Given the description of an element on the screen output the (x, y) to click on. 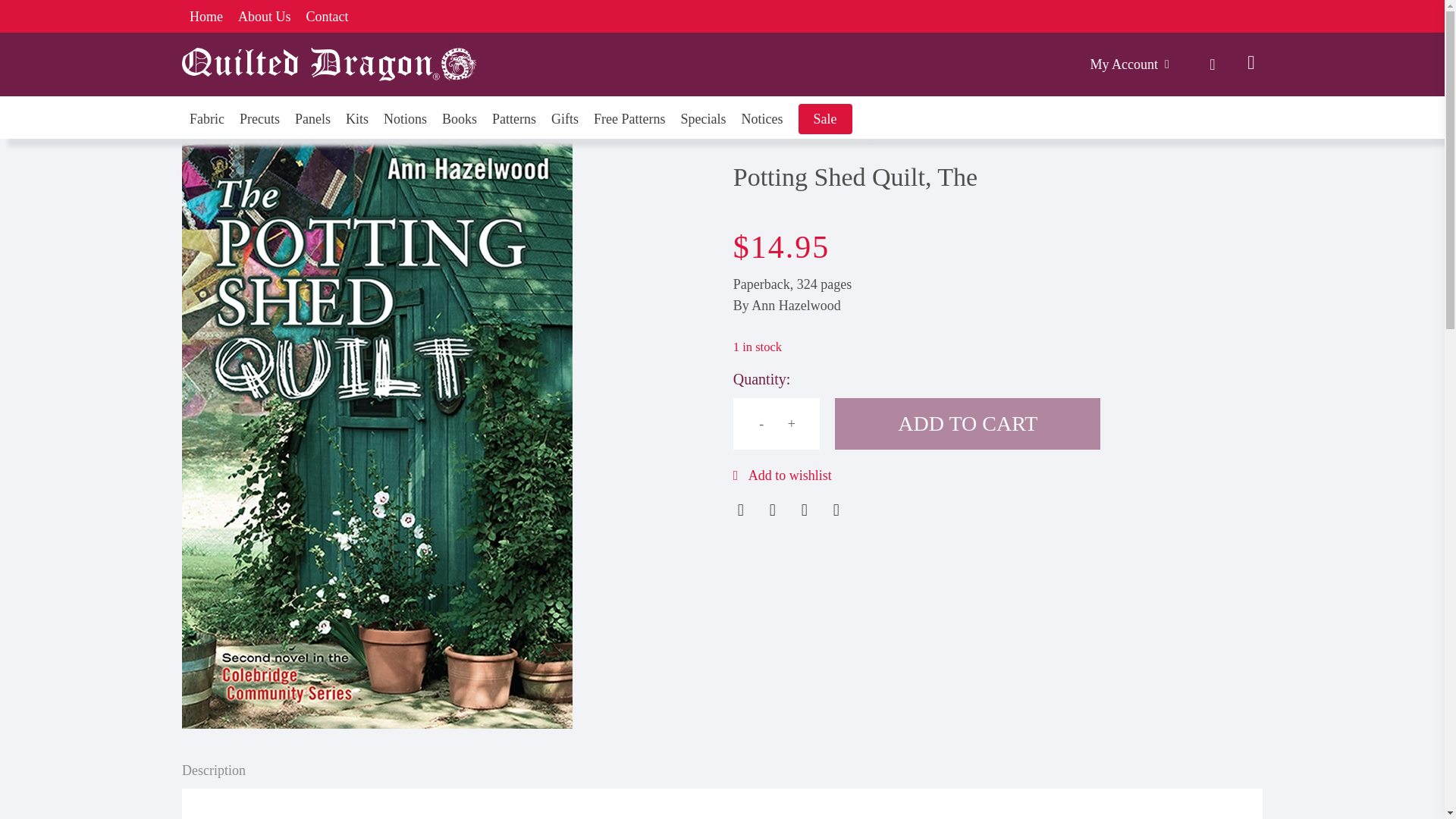
Share this (740, 506)
Books (459, 118)
Tweet this (772, 506)
Patterns (513, 118)
Home (205, 16)
My Account (1131, 64)
Fabric (206, 118)
- (761, 423)
Description (214, 770)
Home (747, 136)
Pin this (836, 506)
Books (800, 136)
Notions (405, 118)
About Us (264, 16)
ADD TO CART (967, 423)
